Given the description of an element on the screen output the (x, y) to click on. 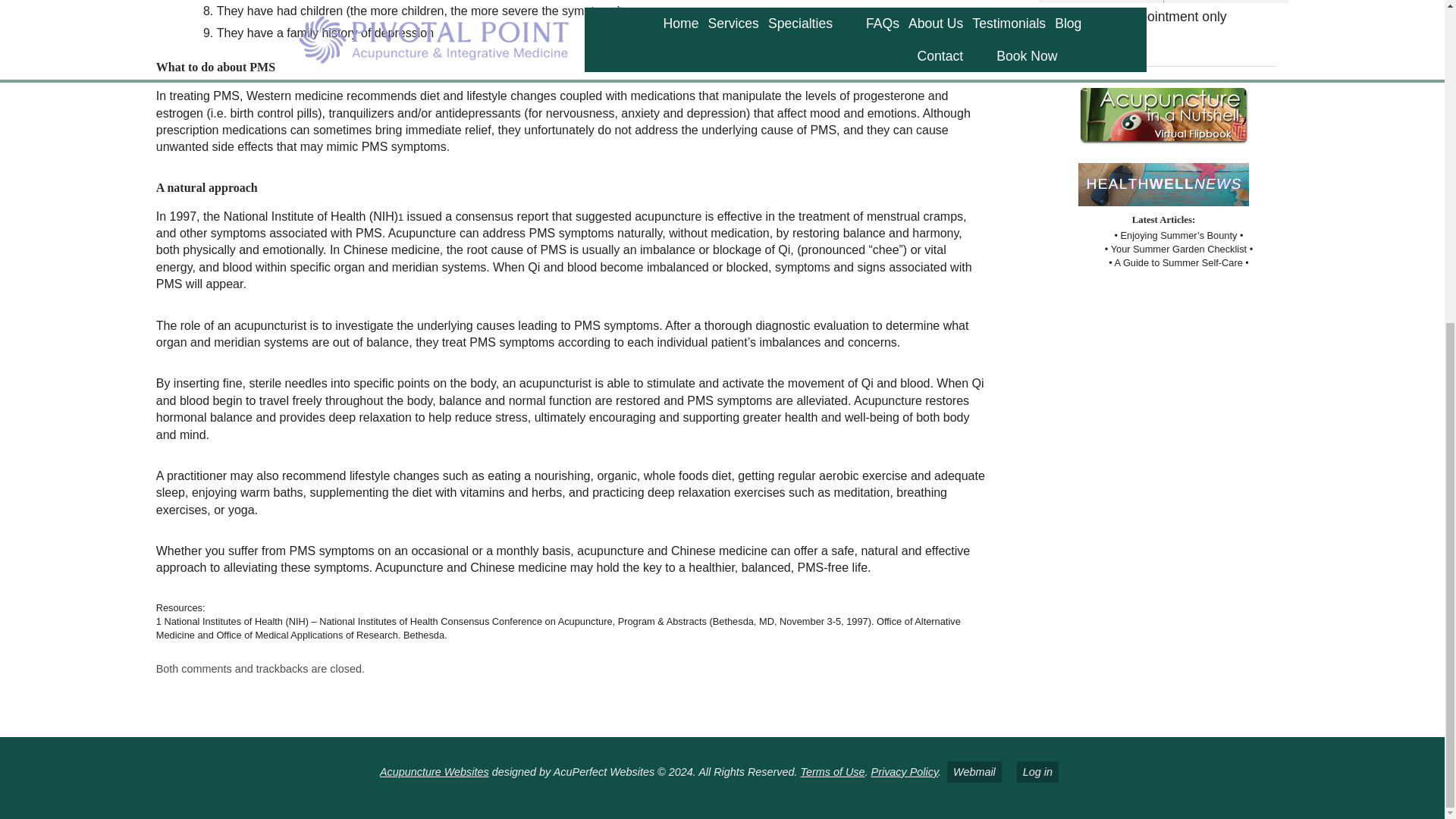
Acupuncture Websites (434, 771)
